Given the description of an element on the screen output the (x, y) to click on. 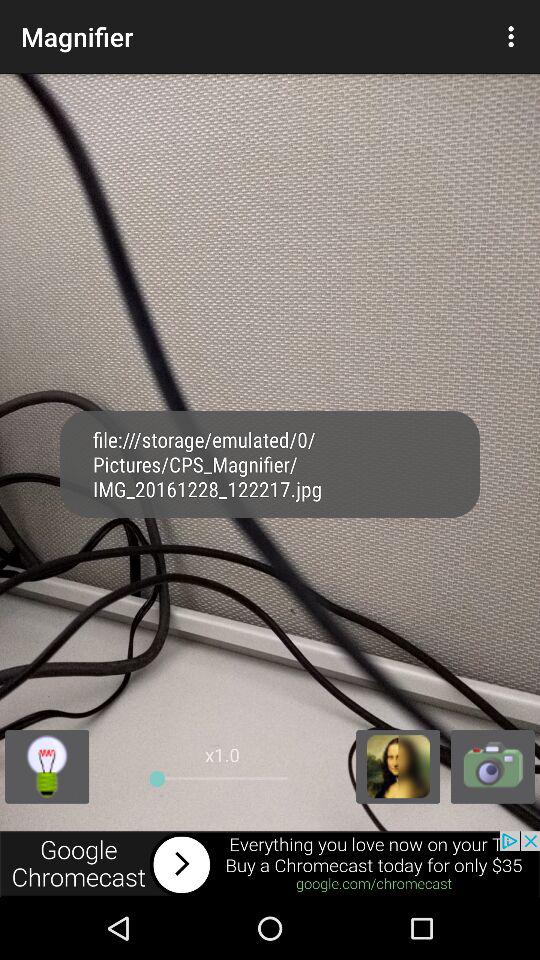
switch to camera (492, 766)
